Given the description of an element on the screen output the (x, y) to click on. 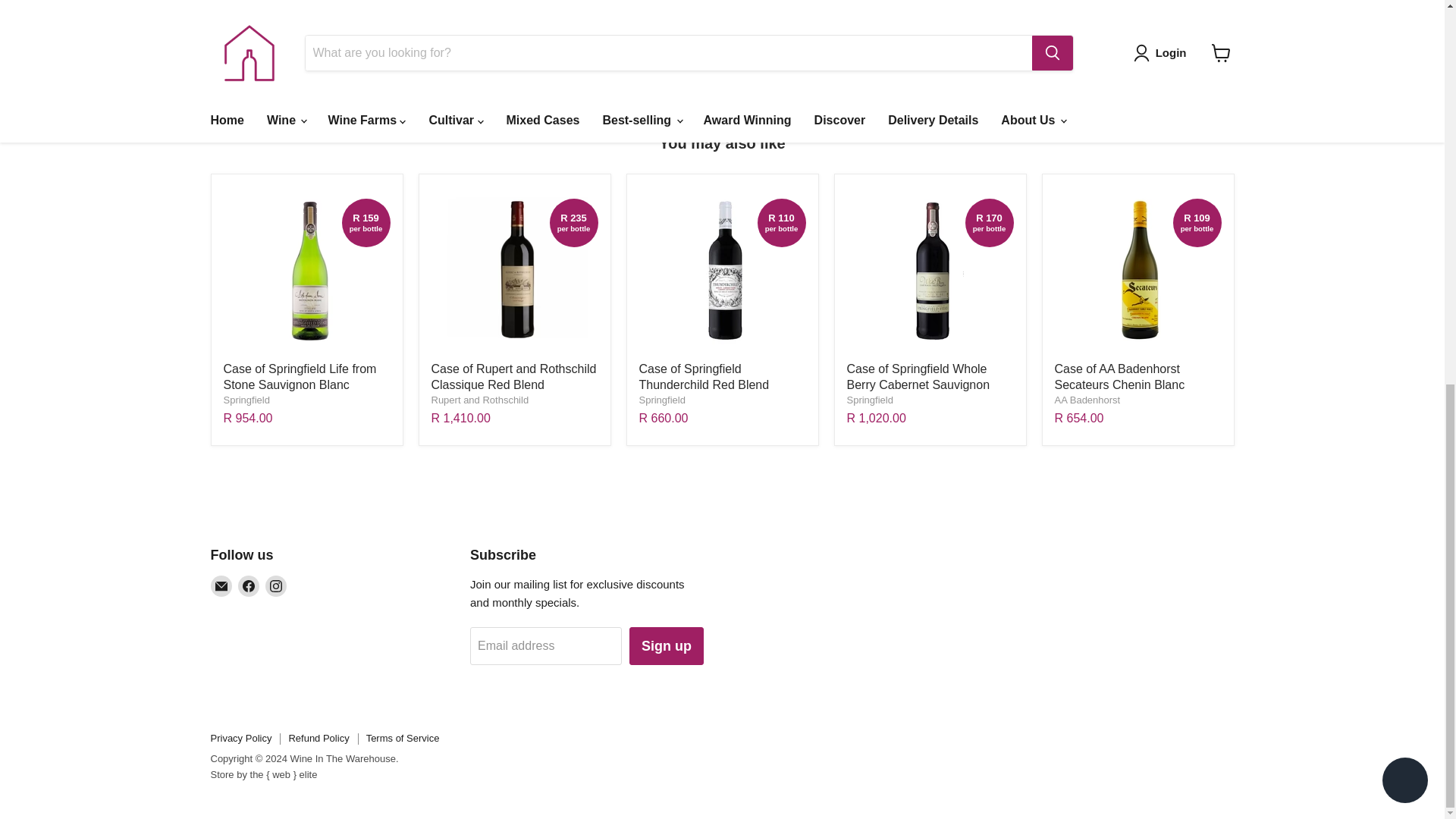
Rupert and Rothschild (479, 399)
AA Badenhorst (1086, 399)
Springfield (245, 399)
Springfield (868, 399)
Instagram (275, 586)
1 (839, 3)
Shopify online store chat (1404, 60)
Springfield (661, 399)
Facebook (248, 586)
Email (221, 586)
